Given the description of an element on the screen output the (x, y) to click on. 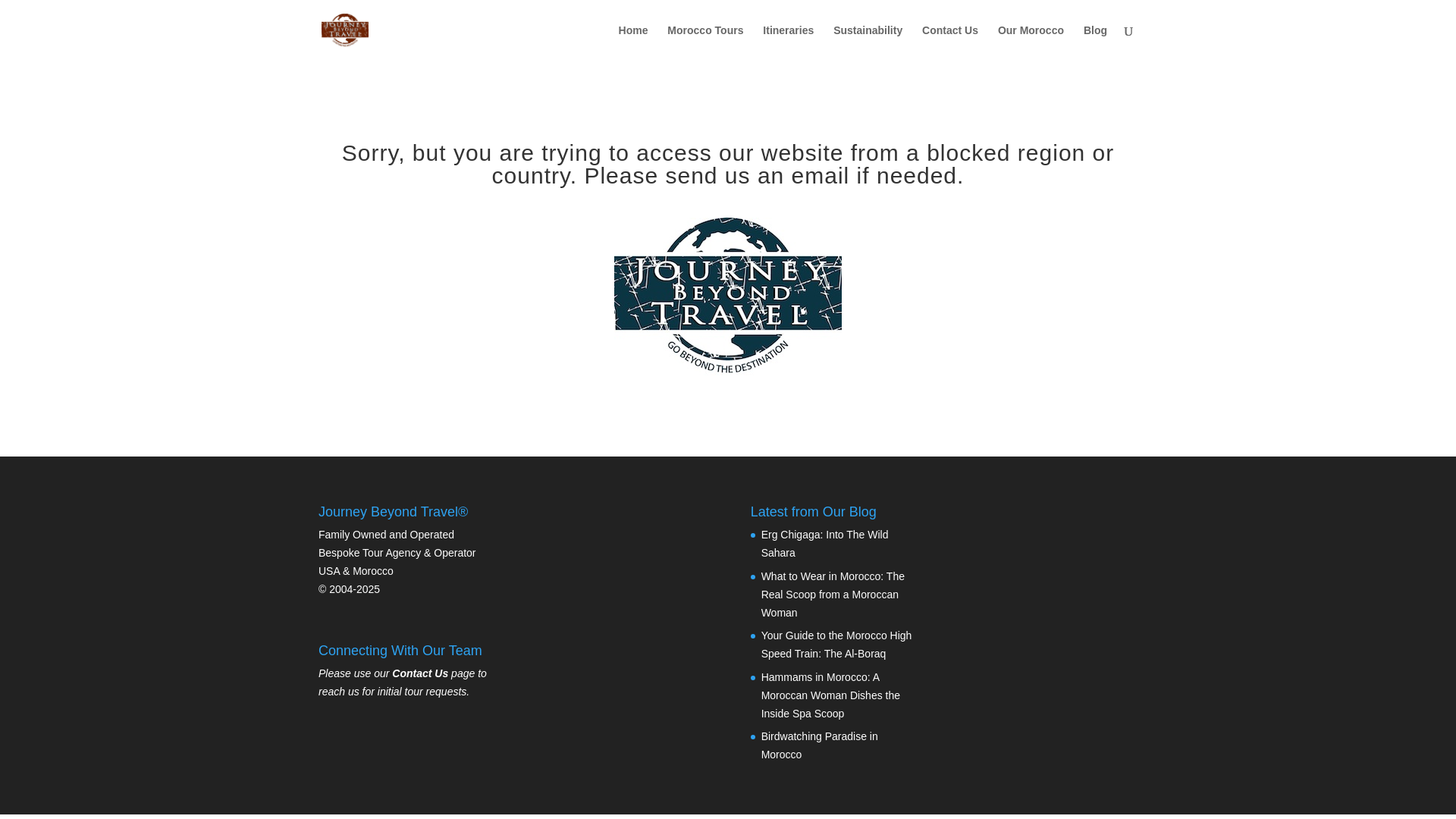
Contact Us (949, 42)
Birdwatching Paradise in Morocco (819, 745)
Morocco Tours (704, 42)
Sustainability (867, 42)
Our Morocco (1030, 42)
Your Guide to the Morocco High Speed Train: The Al-Boraq (836, 644)
Itineraries (787, 42)
Erg Chigaga: Into The Wild Sahara (824, 543)
Contact Us (419, 673)
